Given the description of an element on the screen output the (x, y) to click on. 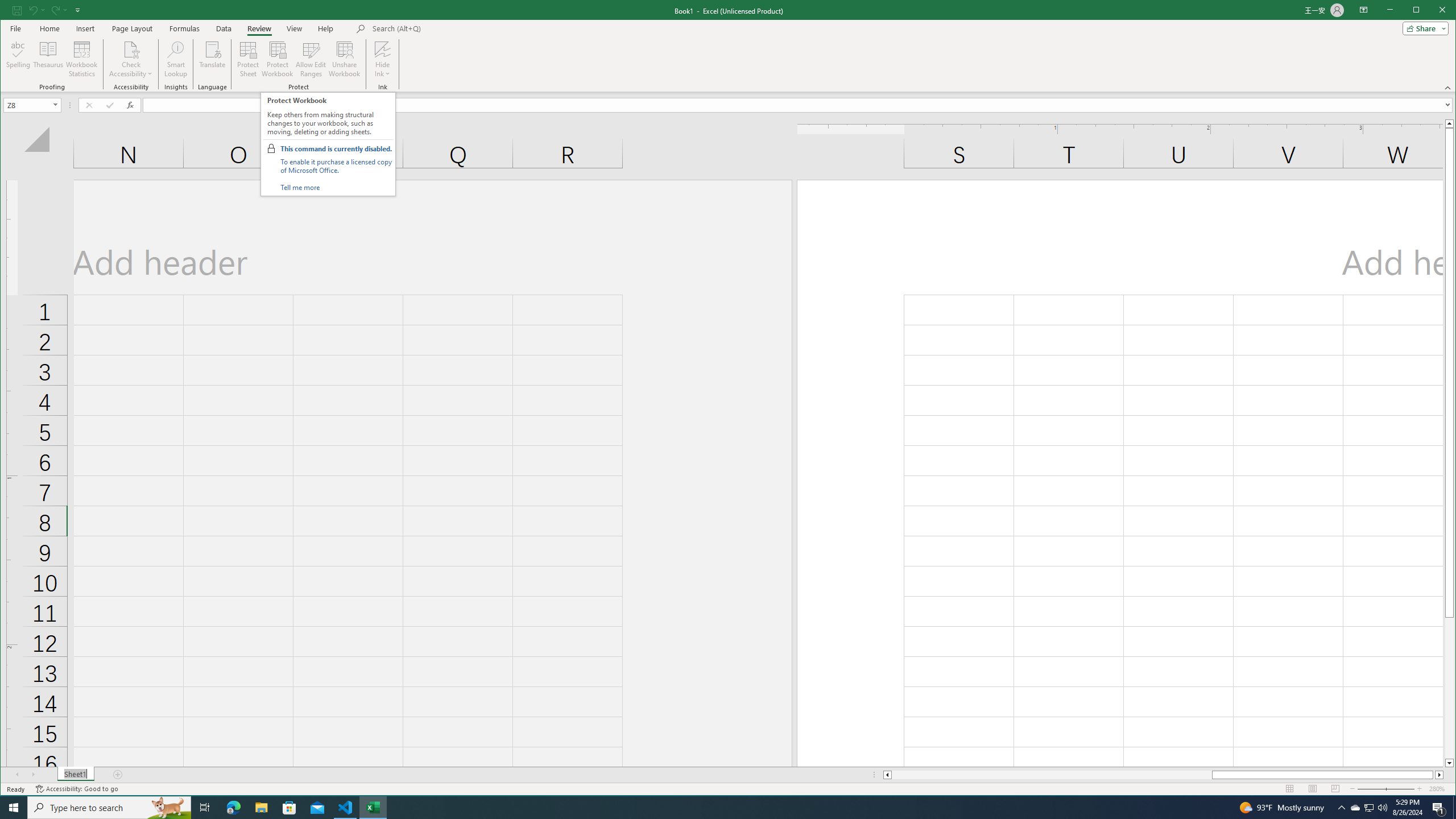
Help (325, 28)
Microsoft Store (289, 807)
Unshare Workbook (344, 59)
Q2790: 100% (1355, 807)
Hide Ink (1382, 807)
Share (382, 59)
Sheet Tab (1422, 27)
Search highlights icon opens search home window (75, 774)
Data (167, 807)
Open (223, 28)
